Given the description of an element on the screen output the (x, y) to click on. 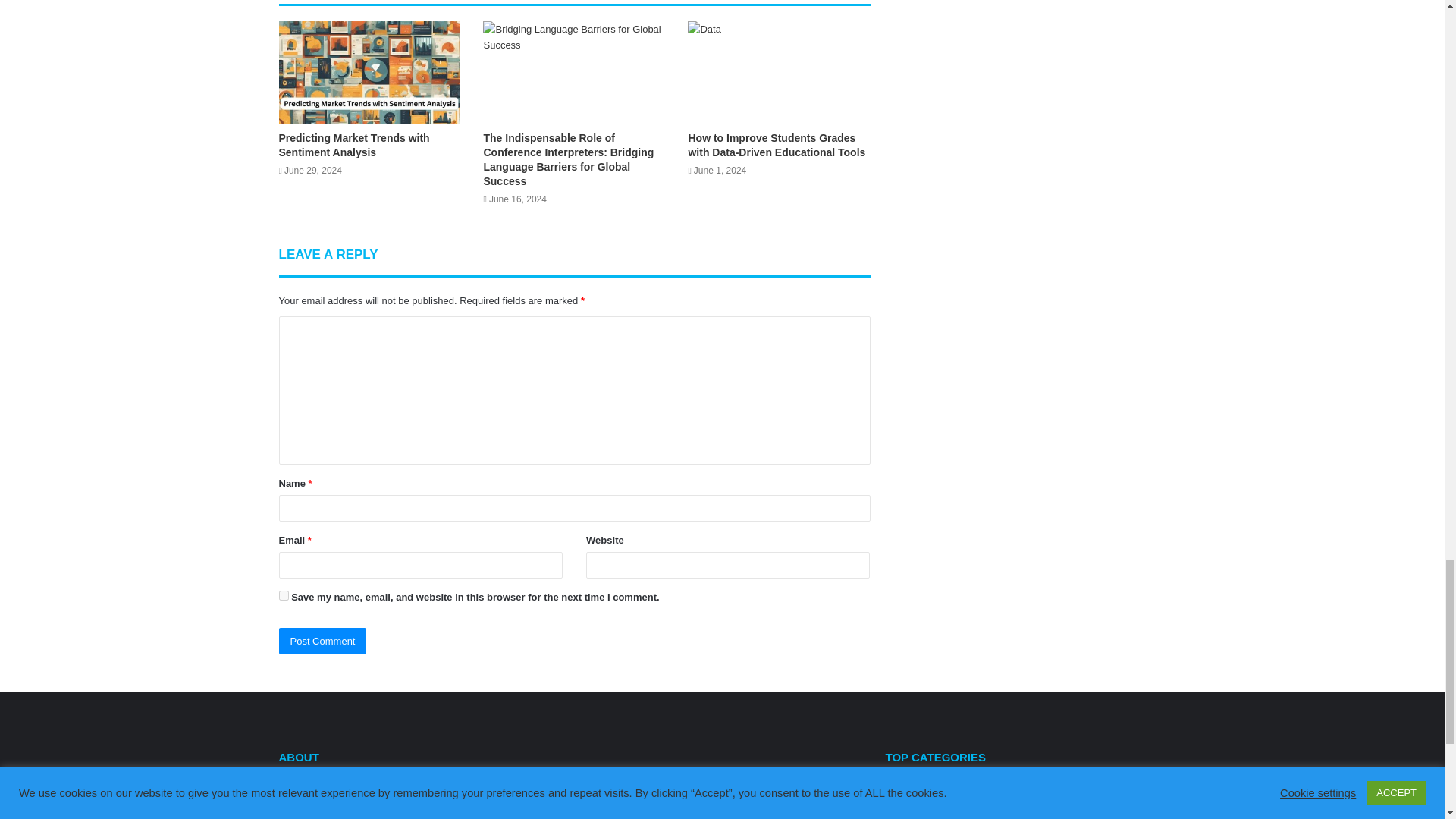
yes (283, 595)
Post Comment (322, 641)
Predicting Market Trends with Sentiment Analysis (354, 144)
